Given the description of an element on the screen output the (x, y) to click on. 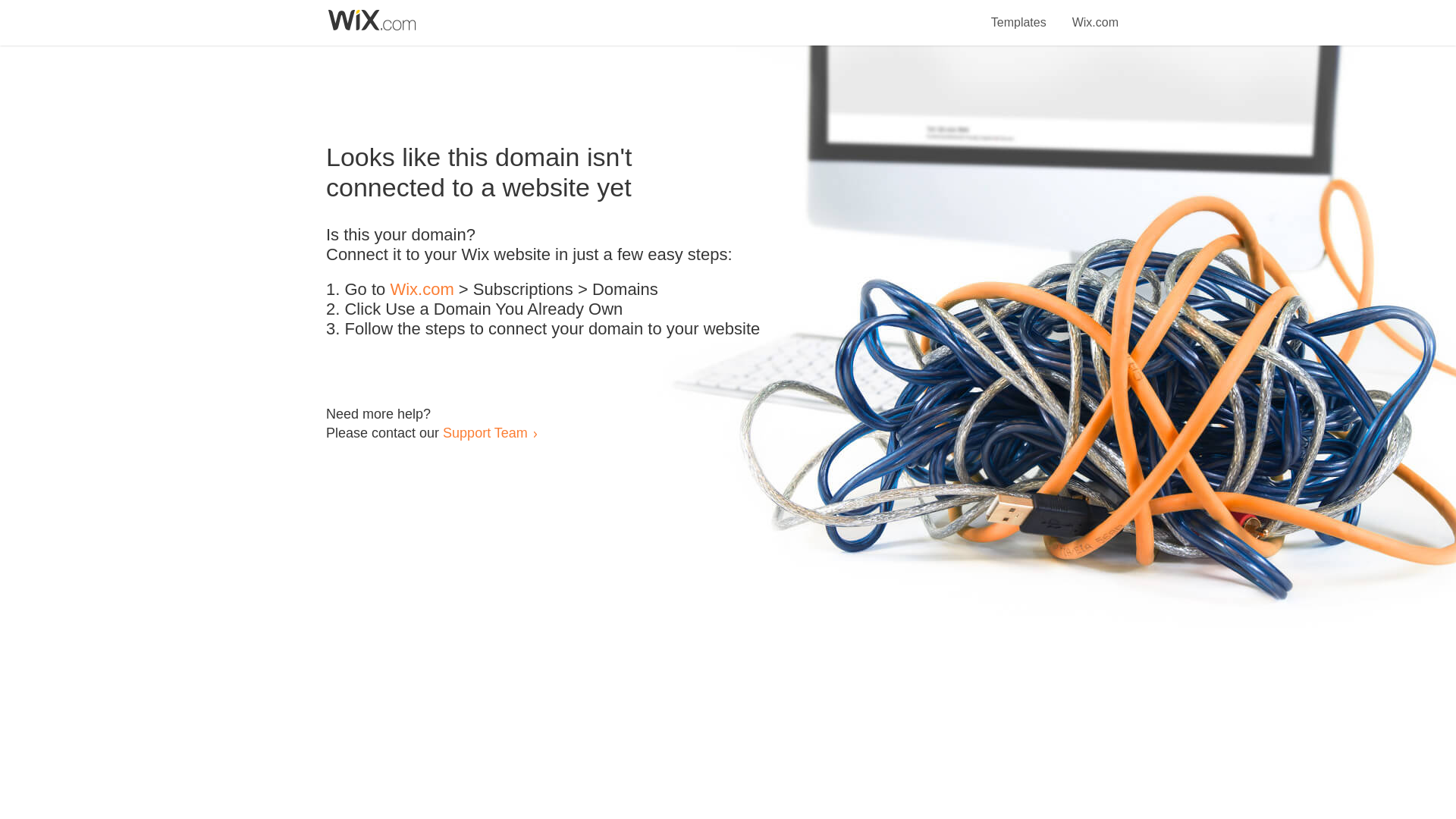
Wix.com (1095, 14)
Support Team (484, 432)
Templates (1018, 14)
Wix.com (421, 289)
